Given the description of an element on the screen output the (x, y) to click on. 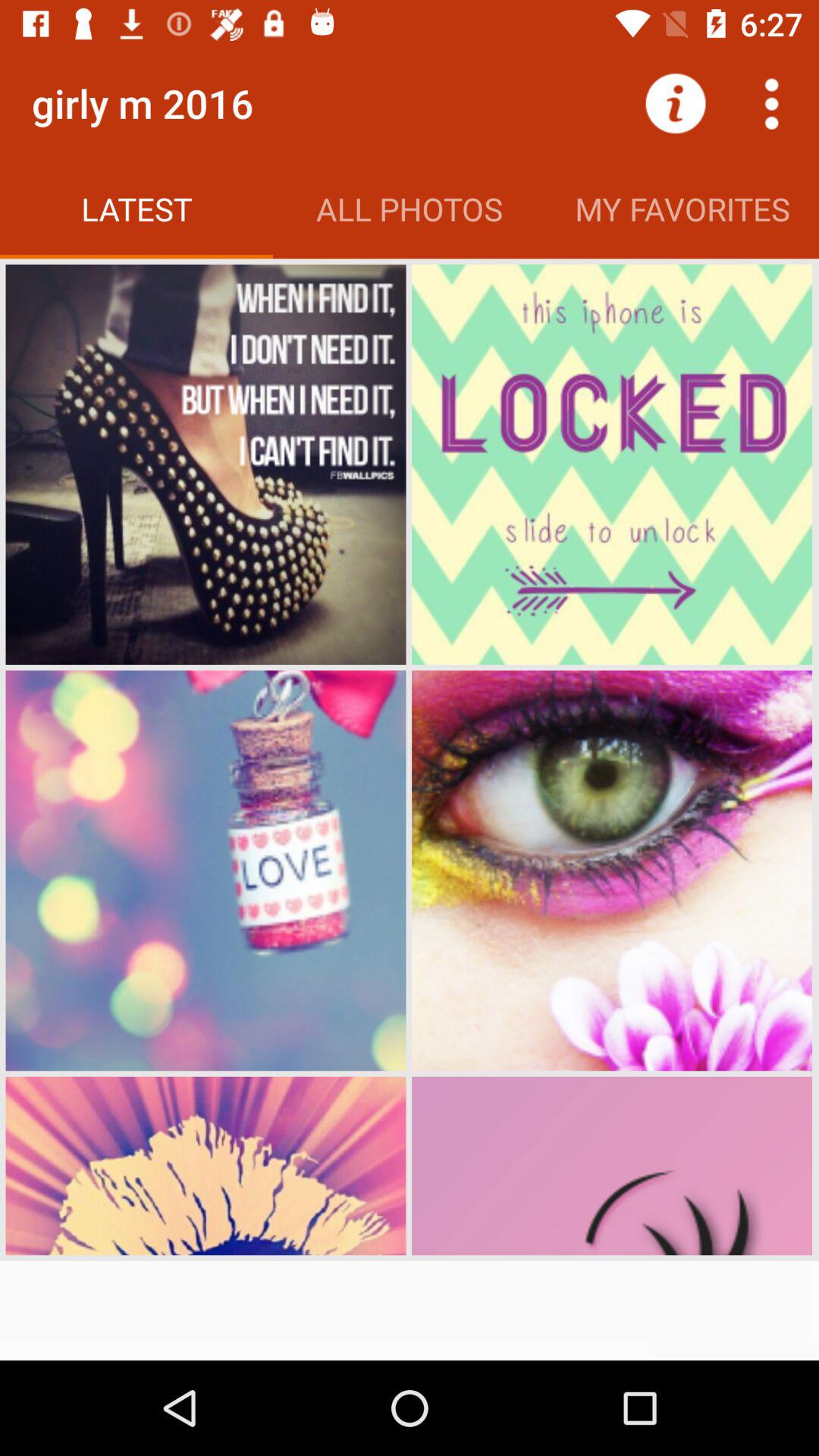
turn on the app above the my favorites app (771, 103)
